Given the description of an element on the screen output the (x, y) to click on. 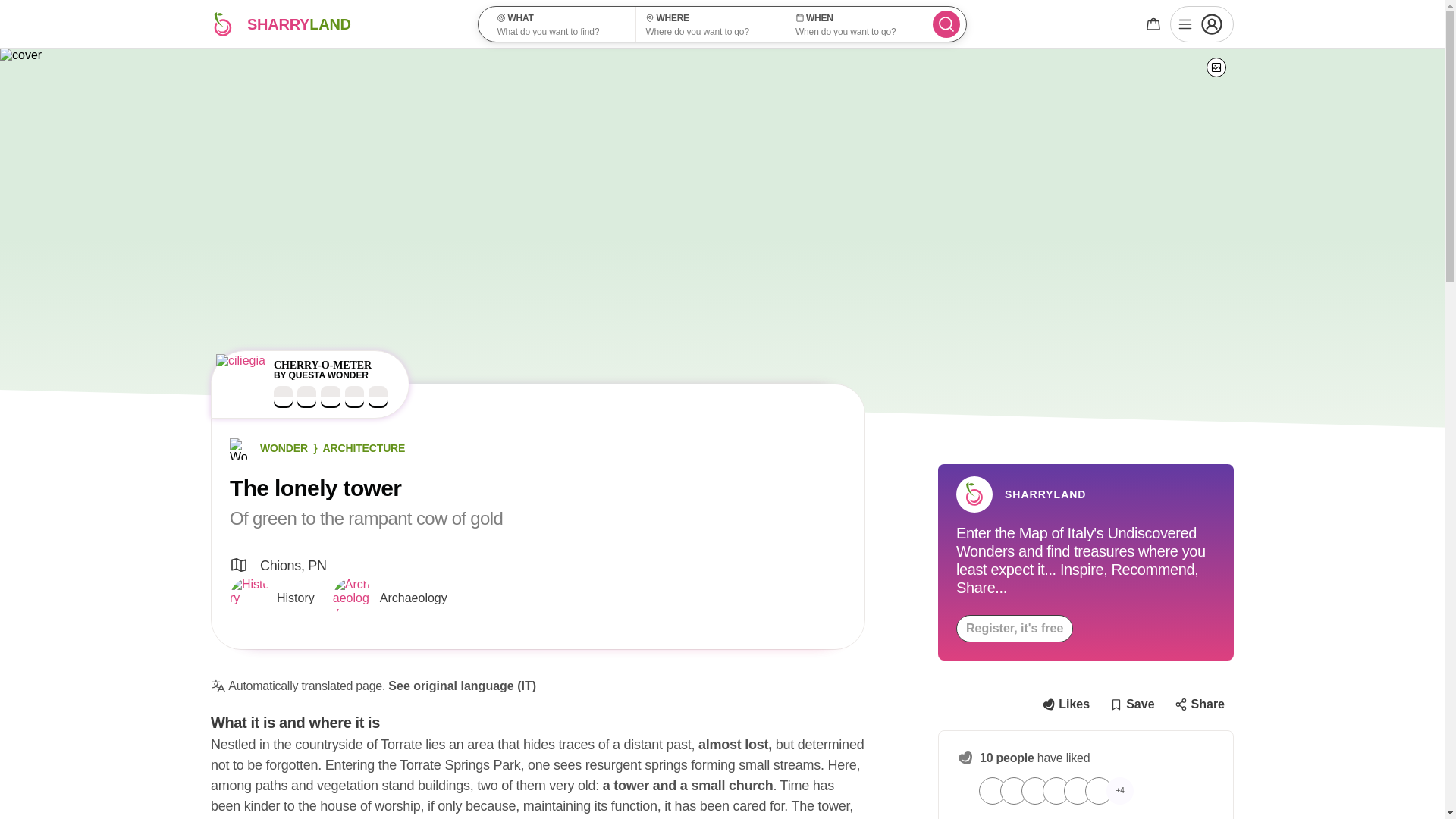
Register, it's free (304, 383)
Likes (1014, 628)
Archaeology (1065, 704)
Share (389, 598)
History (1199, 704)
Save (272, 598)
SHARRYLAND (1131, 704)
Chions, PN (338, 24)
